Given the description of an element on the screen output the (x, y) to click on. 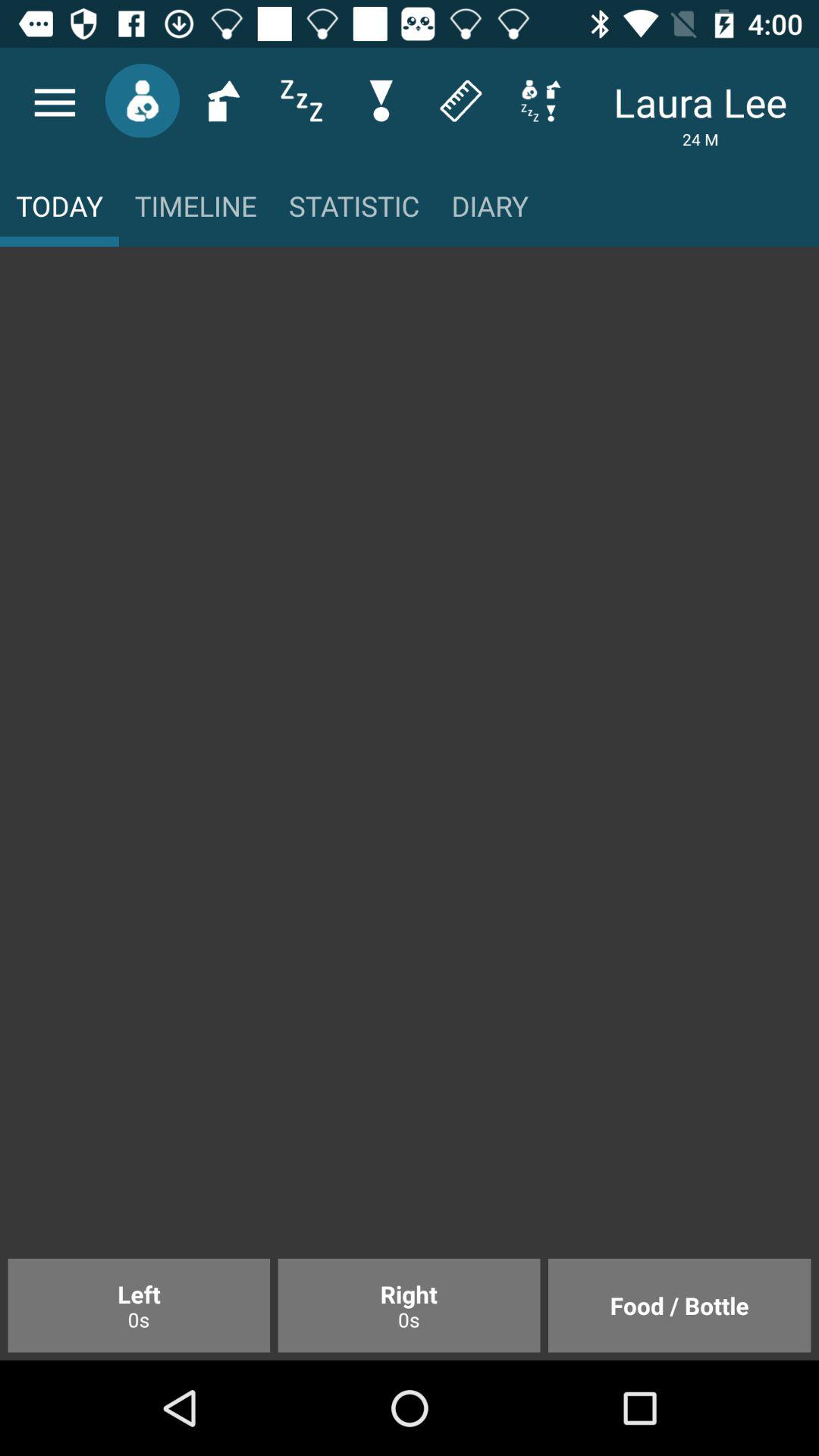
open the icon to the right of the left
0s icon (409, 1305)
